Given the description of an element on the screen output the (x, y) to click on. 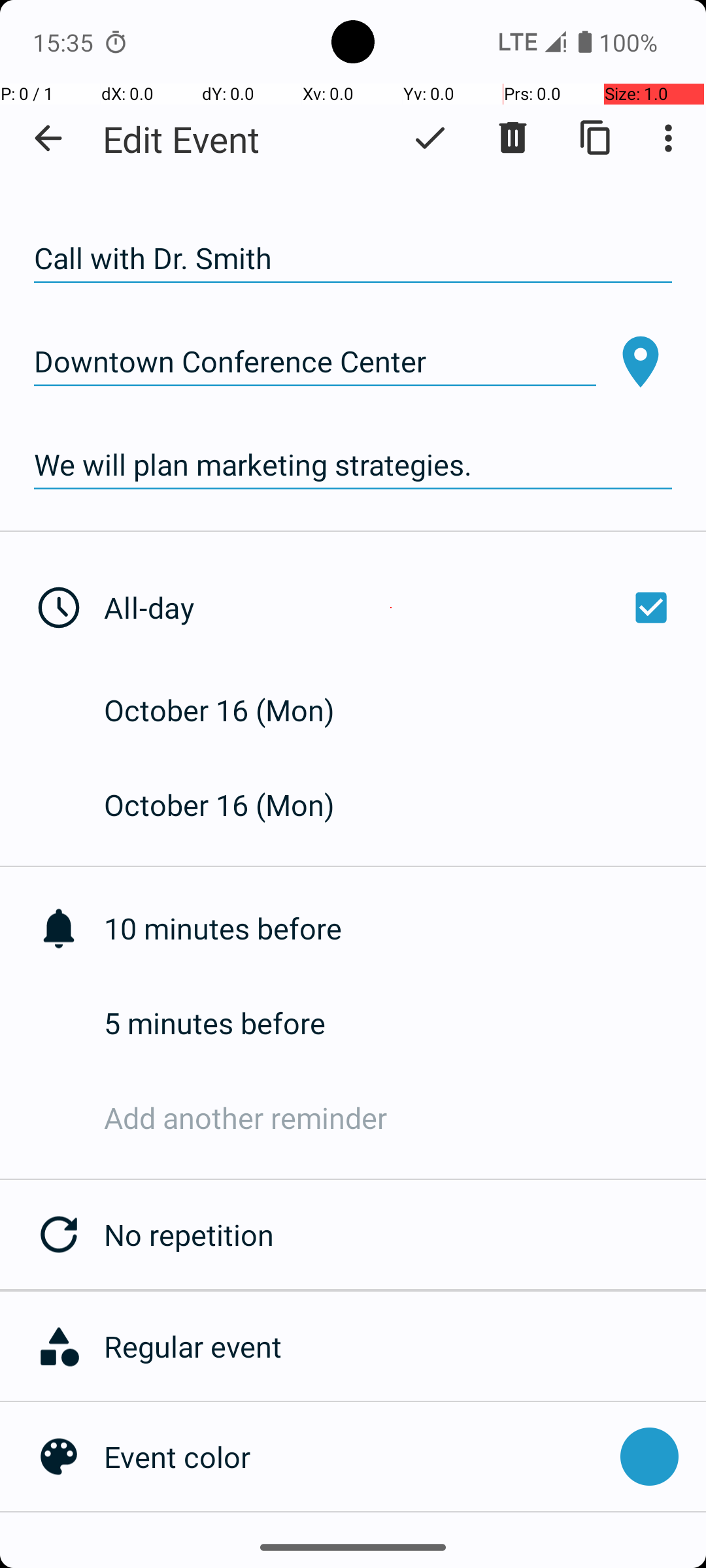
Downtown Conference Center Element type: android.widget.EditText (314, 361)
We will plan marketing strategies. Element type: android.widget.EditText (352, 465)
5 minutes before Element type: android.widget.TextView (404, 1022)
